Given the description of an element on the screen output the (x, y) to click on. 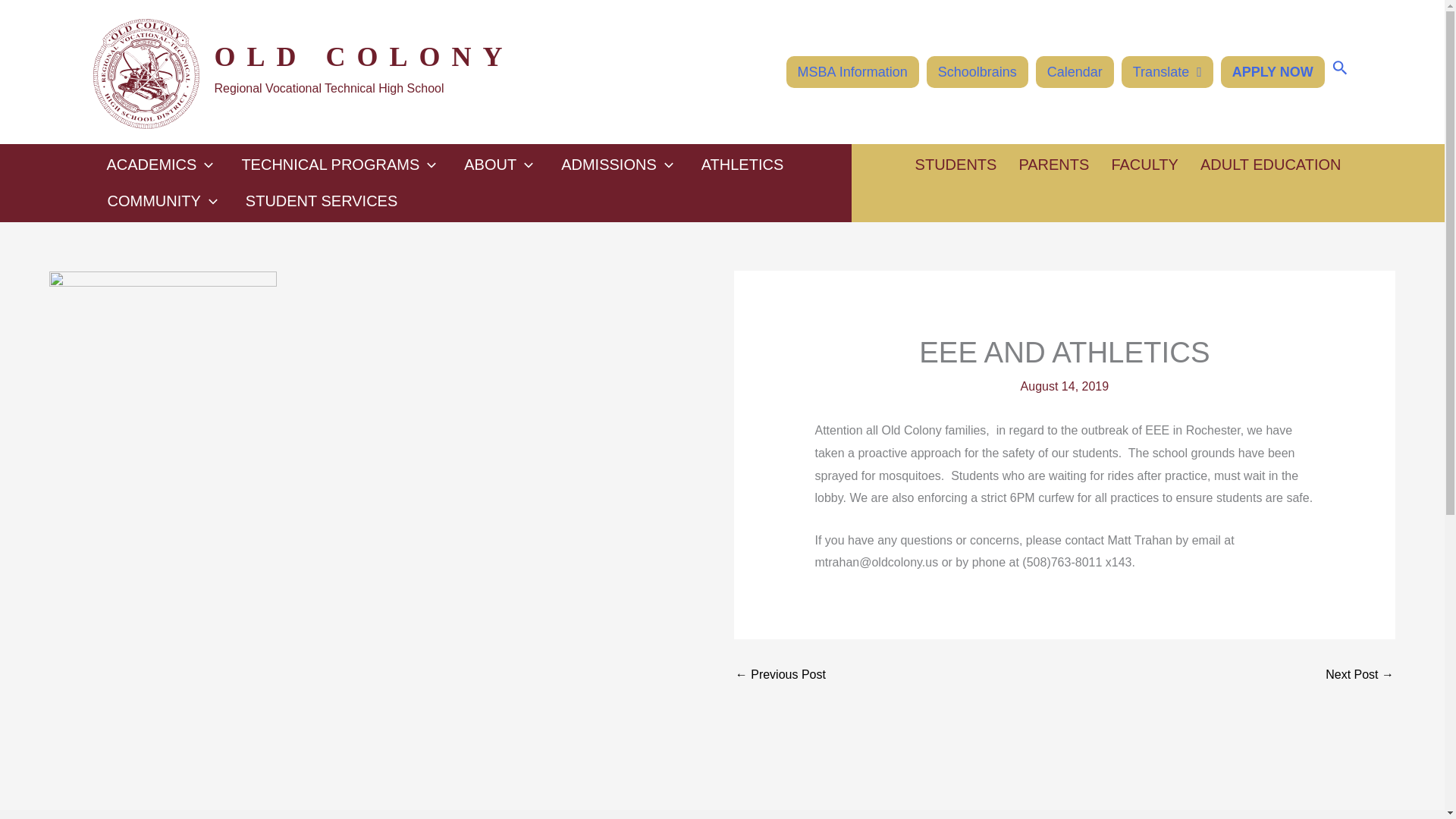
MSBA Information (852, 71)
APPLY NOW (1272, 71)
Calendar (1074, 71)
Important Dates for 2019-2020 School Year (780, 674)
old-colony-seal (145, 73)
TECHNICAL PROGRAMS (338, 164)
Schoolbrains (976, 71)
ACADEMICS (160, 164)
2019-2020 Bus Routes (1358, 674)
Translate (1166, 71)
